Given the description of an element on the screen output the (x, y) to click on. 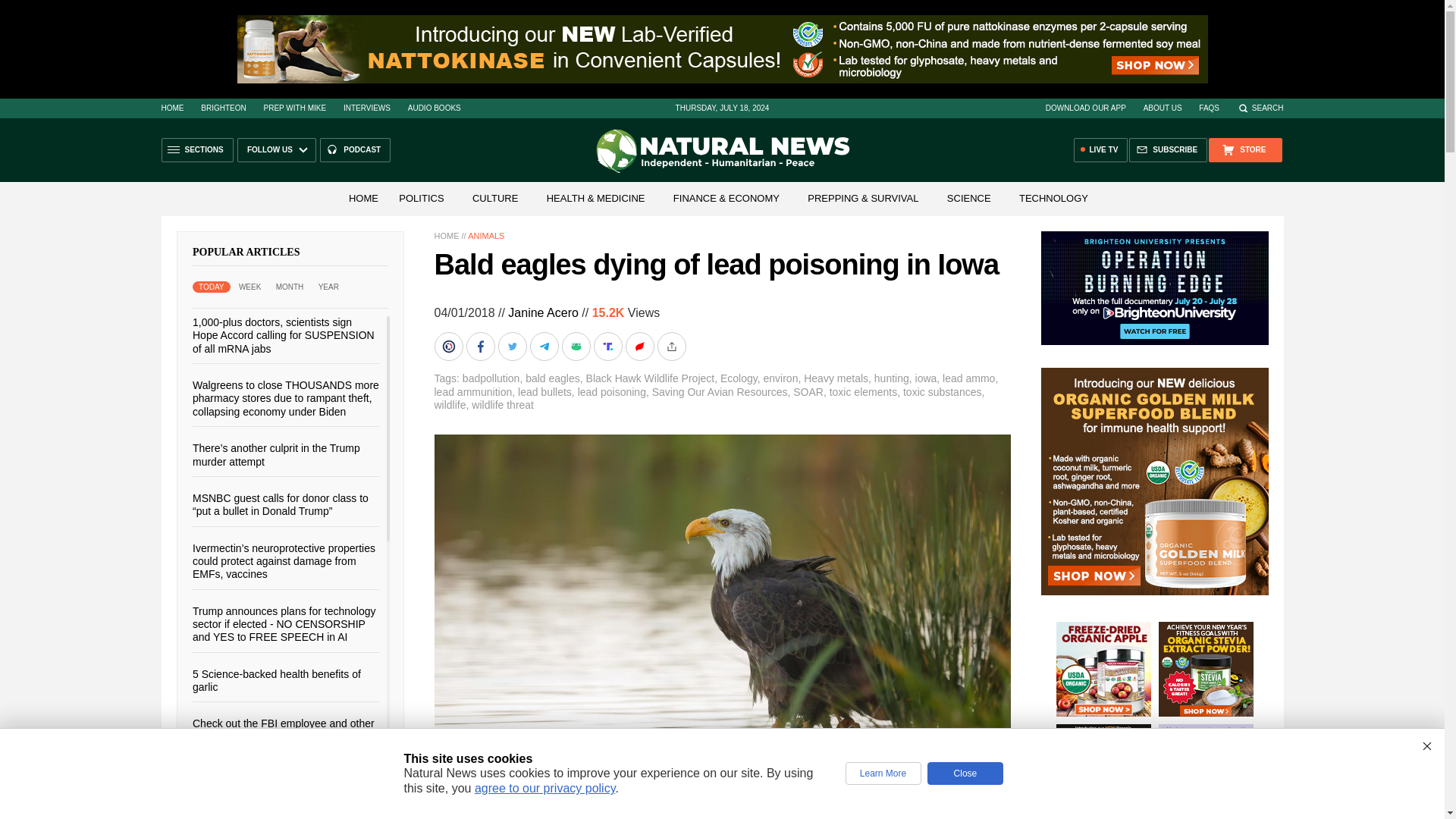
ABOUT US (1162, 108)
Share on Twitter (513, 346)
FAQS (1209, 108)
5 Science-backed health benefits of garlic (276, 679)
PODCAST (355, 150)
Share on Gettr (640, 346)
Share on GAB (576, 346)
SCIENCE (968, 197)
Share on Brighteon.Social (449, 346)
AUDIO BOOKS (434, 108)
DOWNLOAD OUR APP (1085, 108)
More Share Options (672, 346)
SUBSCRIBE (1168, 150)
